Given the description of an element on the screen output the (x, y) to click on. 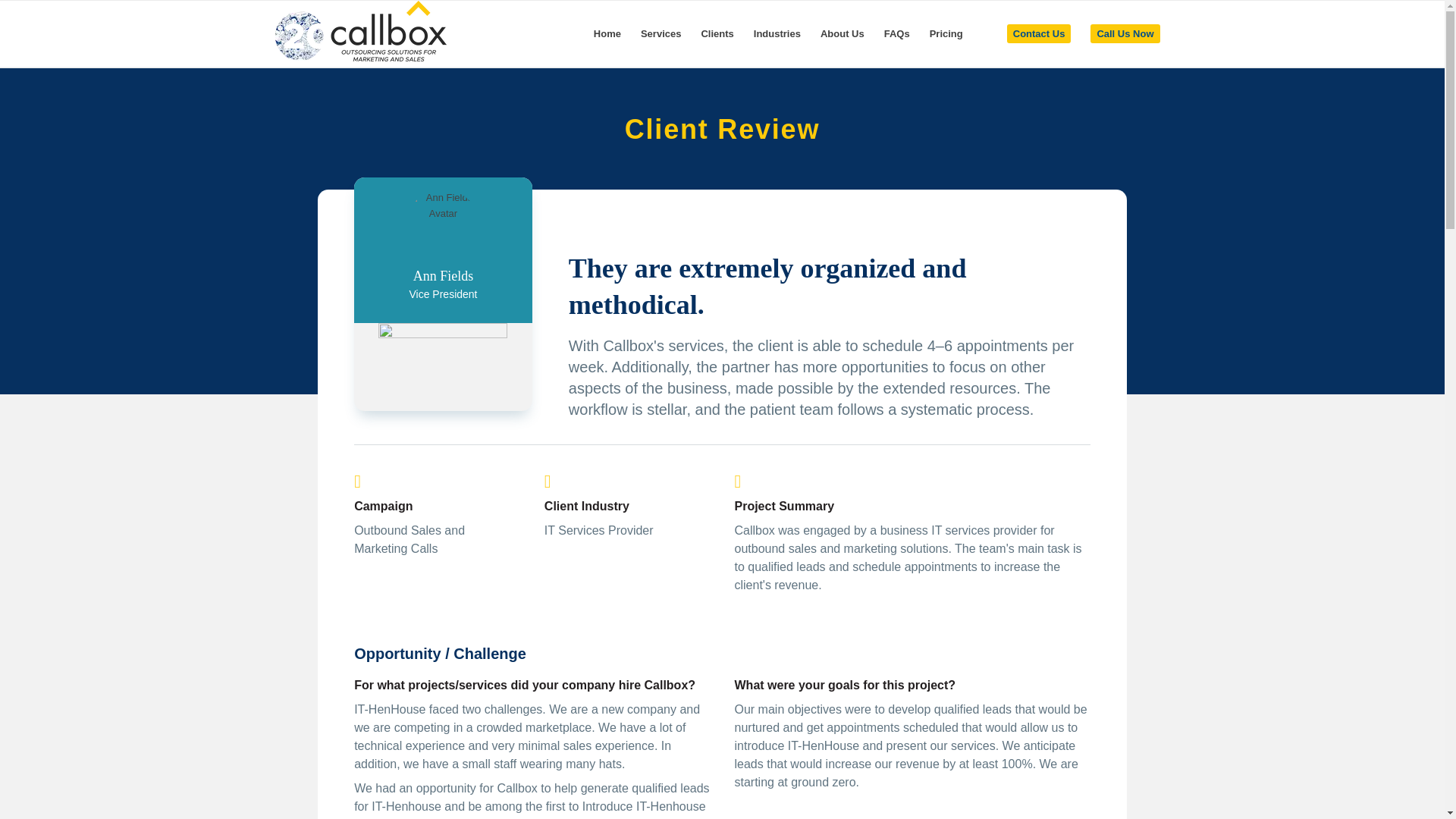
Callbox - B2B Lead Generation Services (360, 30)
Callbox - B2B Lead Generation Services (360, 33)
Services (660, 33)
Industries (777, 33)
Contact Us (1039, 33)
Call Us Now (1124, 33)
About Us (842, 33)
